Given the description of an element on the screen output the (x, y) to click on. 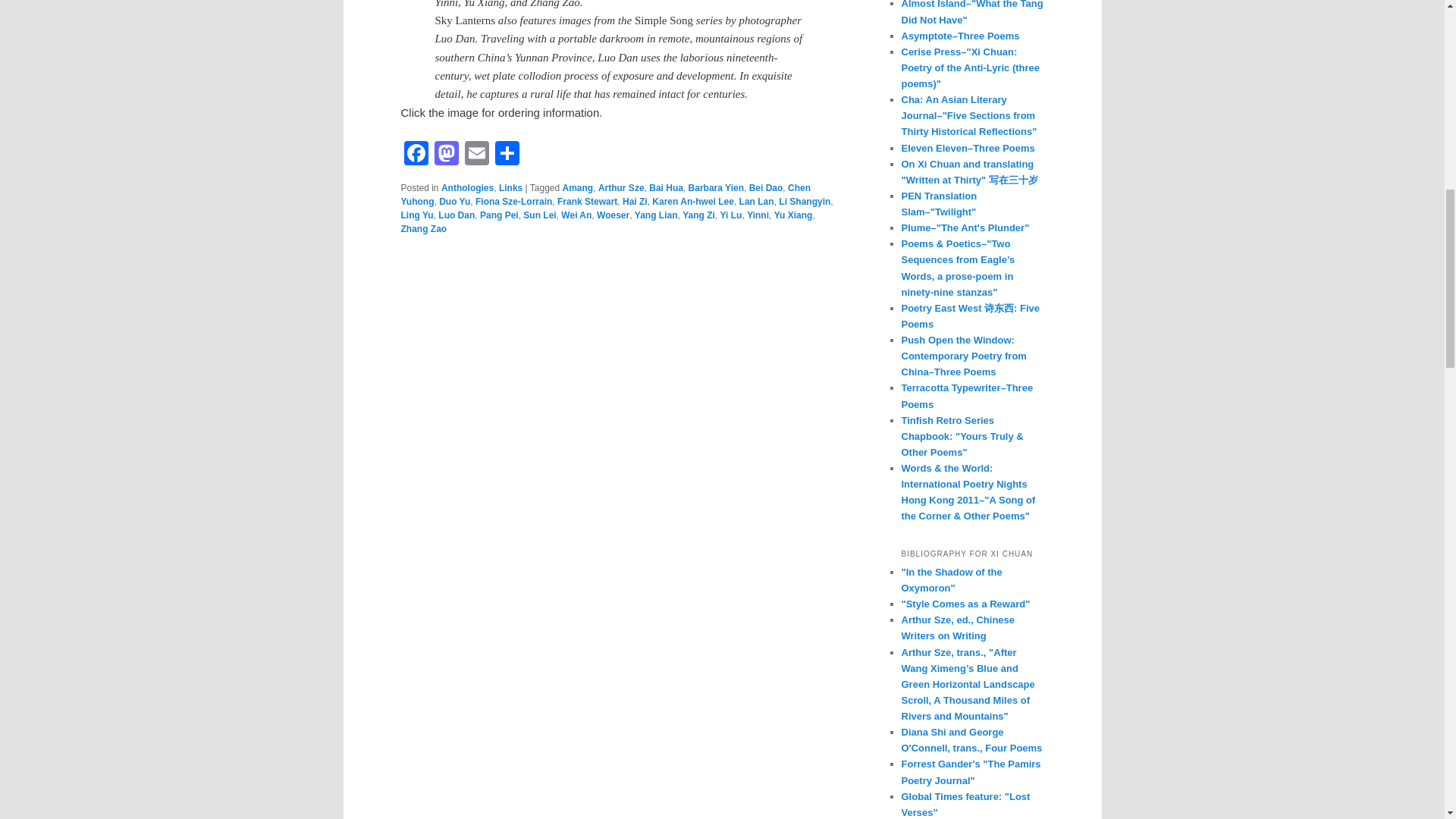
Barbara Yien (716, 187)
Mastodon (445, 154)
Duo Yu (454, 201)
Amang (578, 187)
Bei Dao (766, 187)
Frank Stewart (587, 201)
Yang Zi (698, 214)
Lan Lan (756, 201)
Pang Pei (499, 214)
Facebook (415, 154)
